Given the description of an element on the screen output the (x, y) to click on. 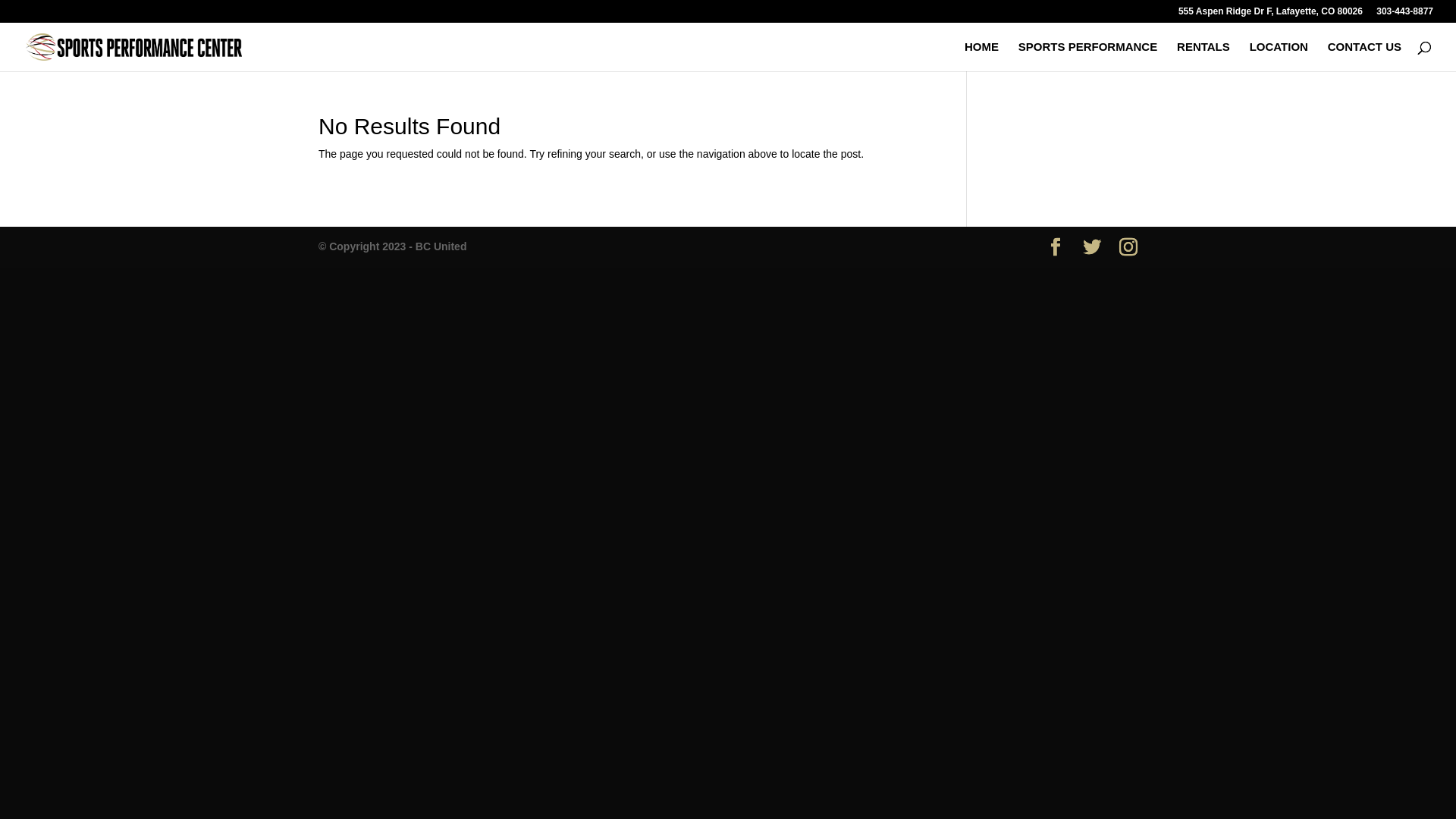
CONTACT US Element type: text (1364, 56)
SPORTS PERFORMANCE Element type: text (1087, 56)
303-443-8877 Element type: text (1404, 14)
RENTALS Element type: text (1203, 56)
HOME Element type: text (981, 56)
555 Aspen Ridge Dr F, Lafayette, CO 80026 Element type: text (1270, 14)
LOCATION Element type: text (1278, 56)
